Given the description of an element on the screen output the (x, y) to click on. 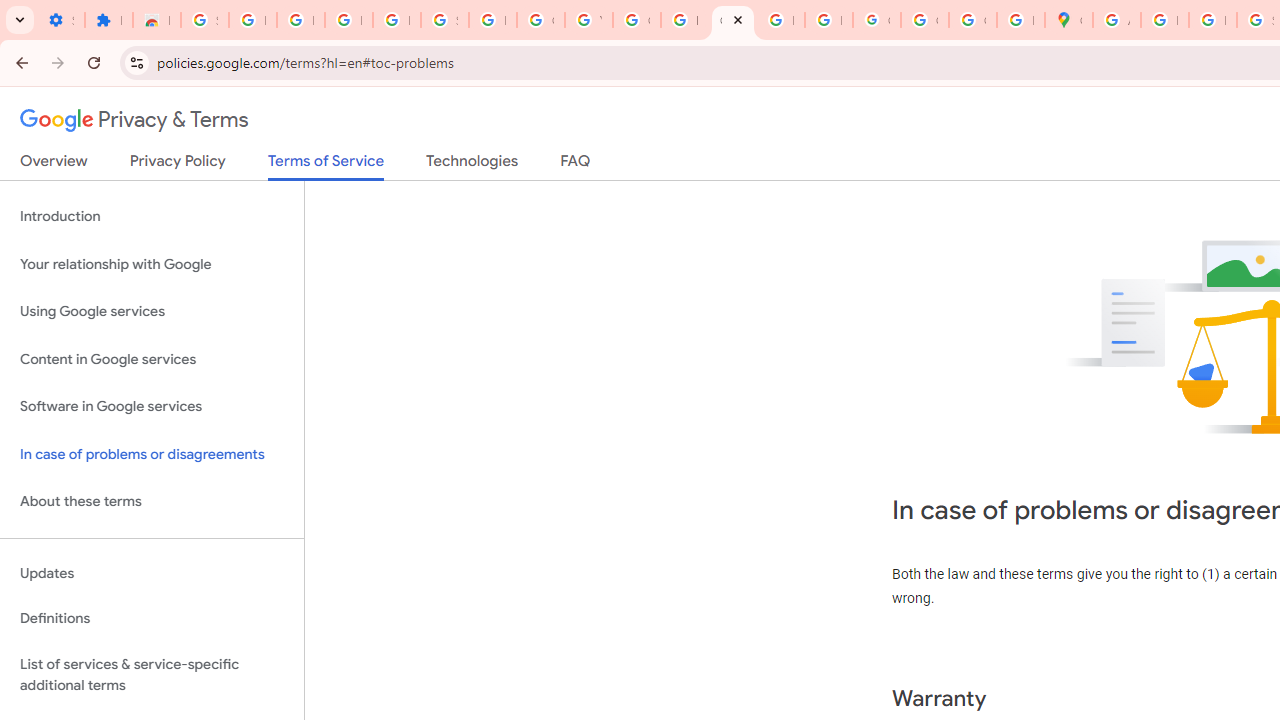
https://scholar.google.com/ (684, 20)
Software in Google services (152, 407)
Delete photos & videos - Computer - Google Photos Help (300, 20)
